Given the description of an element on the screen output the (x, y) to click on. 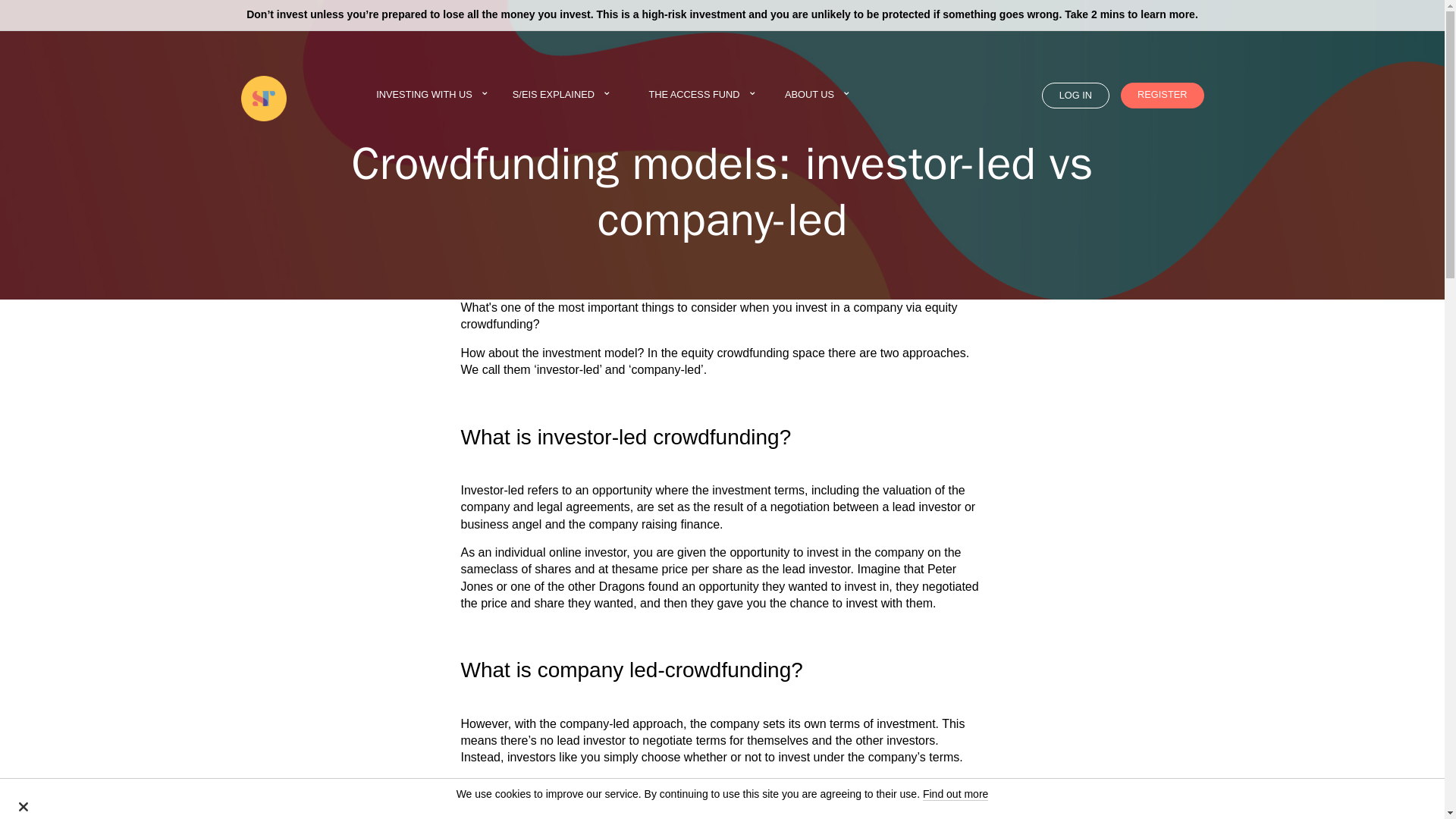
equity crowdfunding (735, 352)
Take 2 mins to learn more (1129, 14)
